Given the description of an element on the screen output the (x, y) to click on. 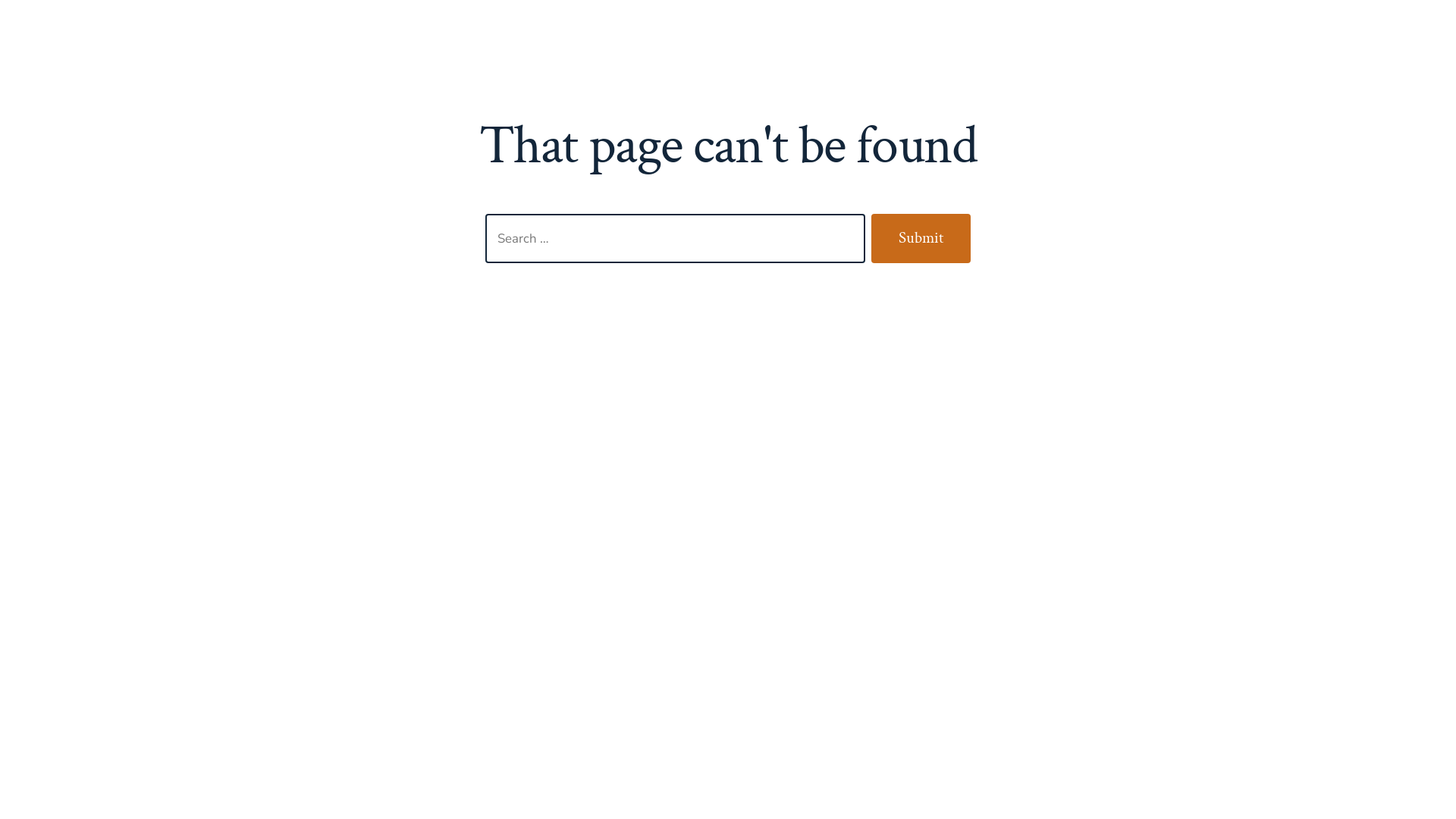
Submit Element type: text (920, 238)
